Given the description of an element on the screen output the (x, y) to click on. 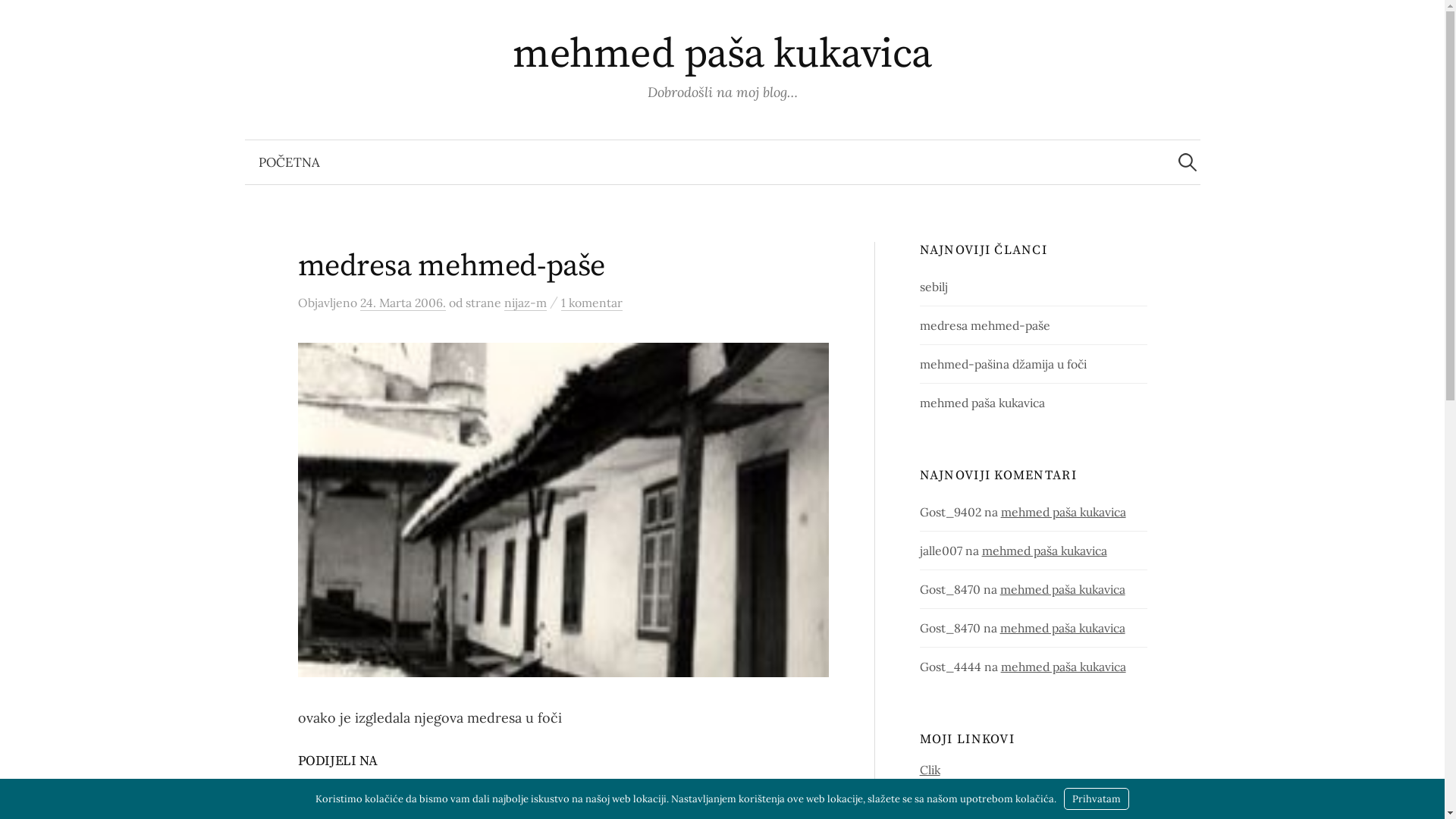
Prihvatam Element type: text (1096, 798)
Twitter Element type: text (321, 789)
Google.com Element type: text (952, 804)
Facebook Element type: text (377, 789)
Clik Element type: text (929, 769)
nijaz-m Element type: text (524, 302)
Pin It Element type: text (486, 789)
Blogger.ba Element type: text (948, 786)
Pretraga Element type: text (18, 18)
sebilj Element type: text (933, 286)
LinkedIn Element type: text (436, 789)
24. Marta 2006. Element type: text (402, 302)
